Given the description of an element on the screen output the (x, y) to click on. 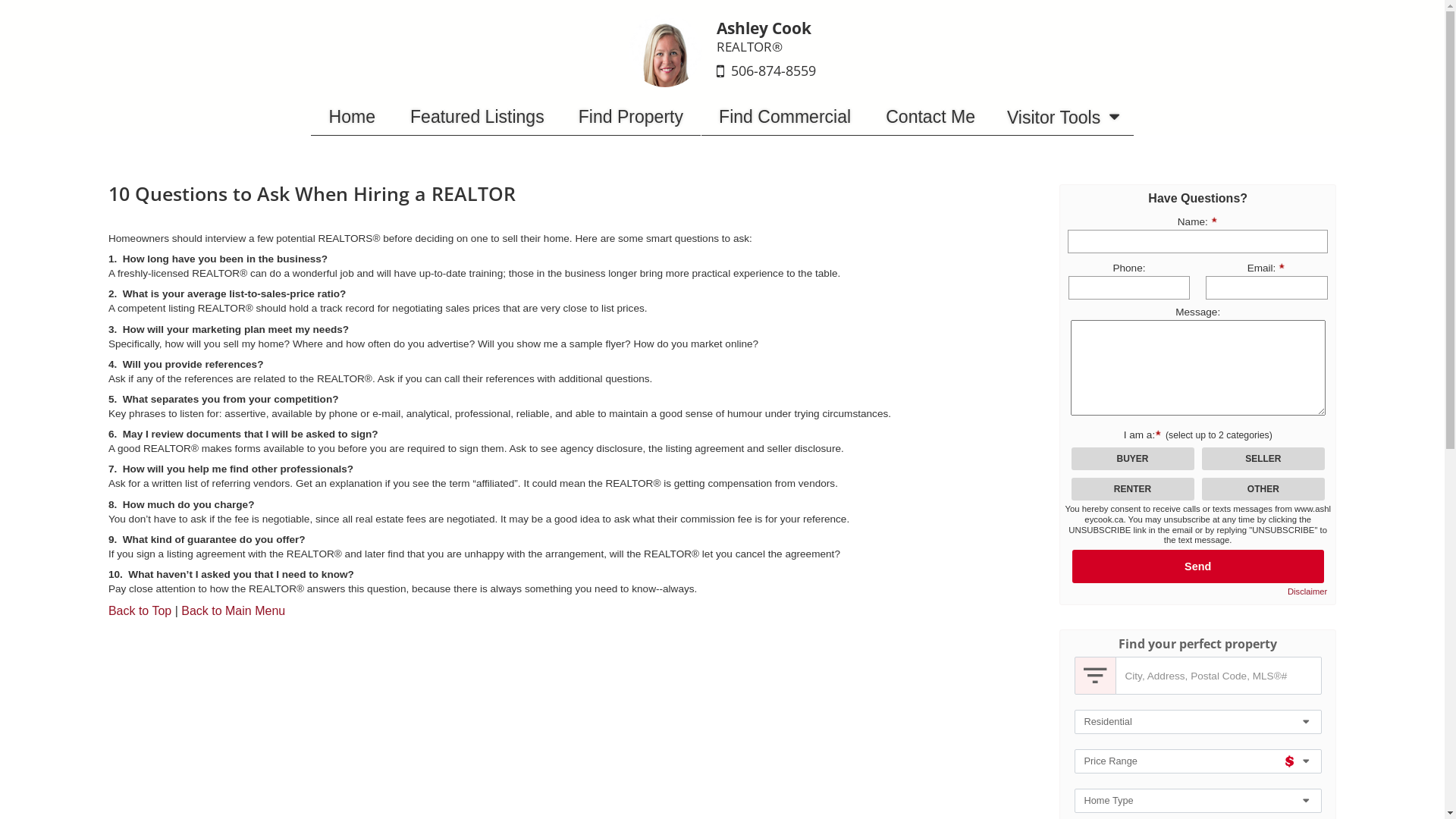
Price Range Element type: text (1197, 761)
Find Commercial Element type: text (784, 116)
Back to Top Element type: text (139, 610)
Residential Element type: text (1197, 721)
Back to Main Menu Element type: text (233, 610)
Disclaimer Element type: text (1307, 591)
506-874-8559 Element type: text (773, 70)
Home Element type: text (351, 116)
Home Type Element type: text (1197, 800)
Find Property Element type: text (630, 116)
Send Element type: text (1198, 566)
Visitor Tools Element type: text (1062, 117)
Search by Element type: text (1094, 675)
BUYER Element type: text (4, 4)
Contact Me Element type: text (930, 116)
Featured Listings Element type: text (476, 116)
